Given the description of an element on the screen output the (x, y) to click on. 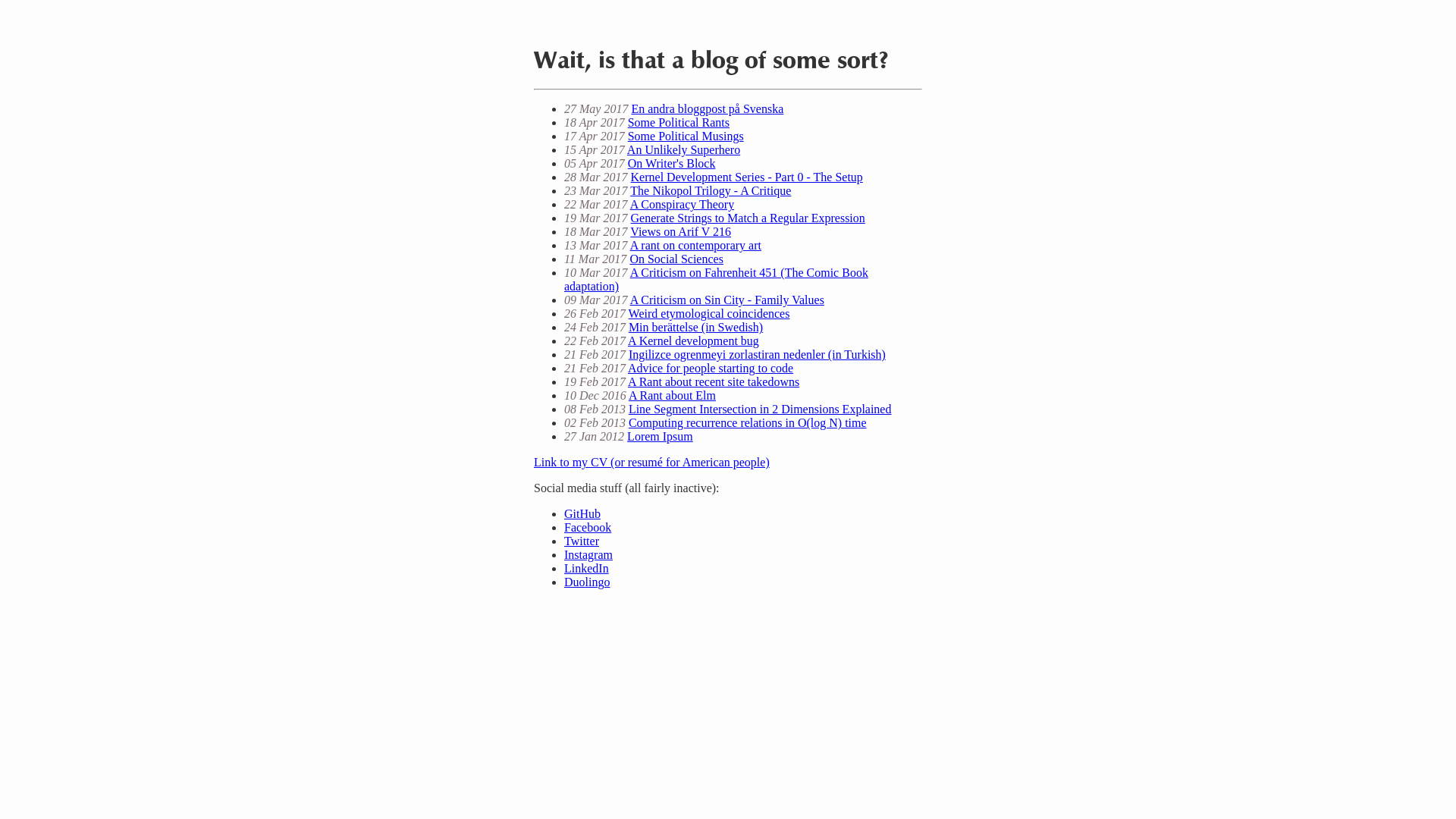
Lorem Ipsum Element type: text (660, 435)
Weird etymological coincidences Element type: text (709, 313)
On Social Sciences Element type: text (676, 258)
Some Political Rants Element type: text (678, 122)
A Conspiracy Theory Element type: text (682, 203)
Ingilizce ogrenmeyi zorlastiran nedenler (in Turkish) Element type: text (756, 354)
Line Segment Intersection in 2 Dimensions Explained Element type: text (759, 408)
A Kernel development bug Element type: text (693, 340)
Kernel Development Series - Part 0 - The Setup Element type: text (746, 176)
LinkedIn Element type: text (586, 567)
The Nikopol Trilogy - A Critique Element type: text (710, 190)
A rant on contemporary art Element type: text (695, 244)
GitHub Element type: text (582, 513)
Computing recurrence relations in O(log N) time Element type: text (747, 422)
A Rant about recent site takedowns Element type: text (713, 381)
Duolingo Element type: text (586, 581)
Twitter Element type: text (581, 540)
Views on Arif V 216 Element type: text (680, 231)
Wait, is that a blog of some sort? Element type: text (710, 60)
A Rant about Elm Element type: text (671, 395)
A Criticism on Fahrenheit 451 (The Comic Book adaptation) Element type: text (716, 279)
Instagram Element type: text (588, 554)
An Unlikely Superhero Element type: text (683, 149)
Some Political Musings Element type: text (685, 135)
A Criticism on Sin City - Family Values Element type: text (727, 299)
Generate Strings to Match a Regular Expression Element type: text (747, 217)
Facebook Element type: text (587, 526)
Advice for people starting to code Element type: text (710, 367)
On Writer's Block Element type: text (671, 162)
